Given the description of an element on the screen output the (x, y) to click on. 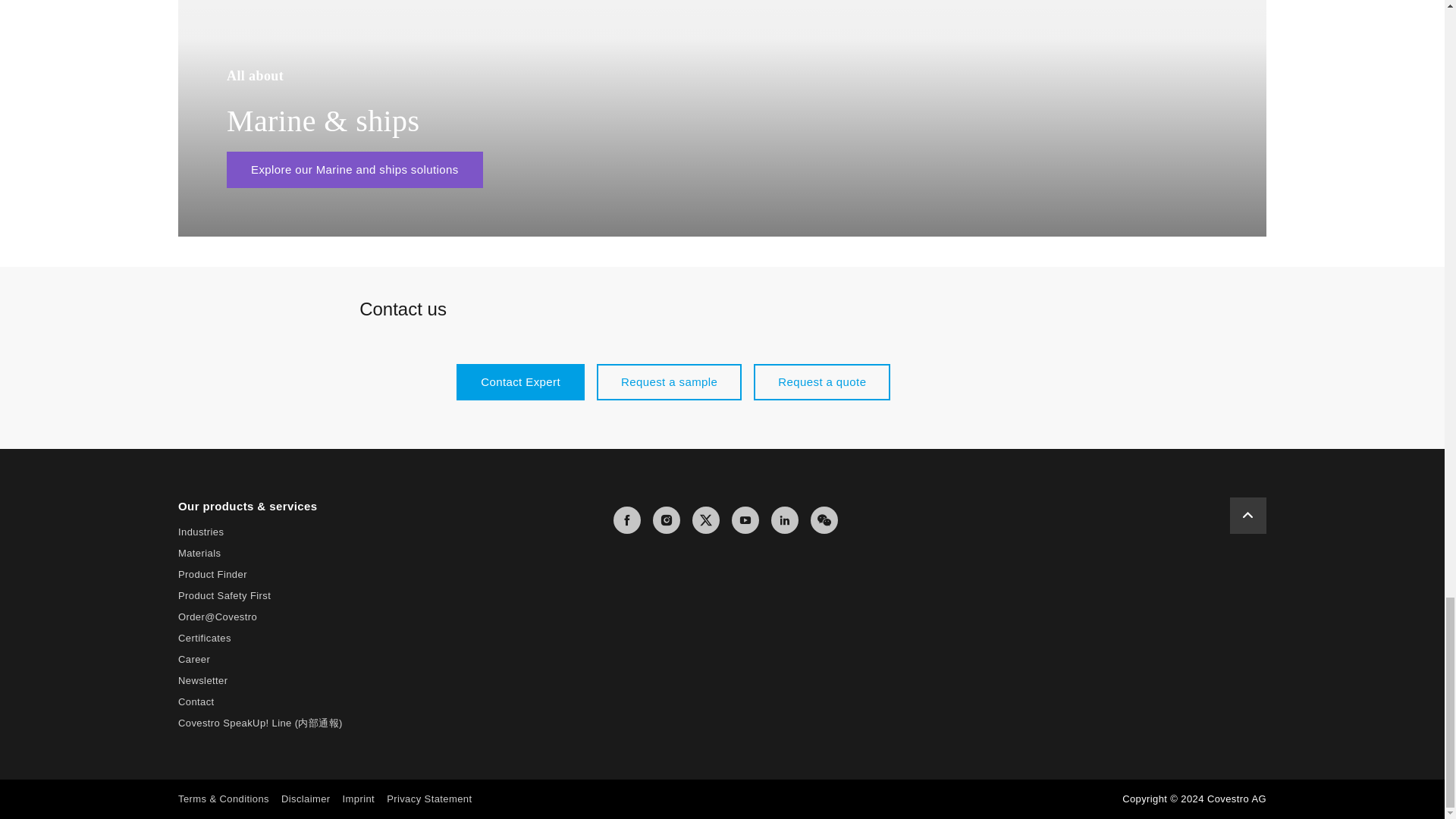
Contact (195, 701)
Product Safety First (223, 595)
Industries (200, 531)
Newsletter (202, 680)
Certificates (204, 637)
Product Finder (212, 573)
Career (193, 659)
Materials (199, 552)
Disclaimer (305, 798)
